Given the description of an element on the screen output the (x, y) to click on. 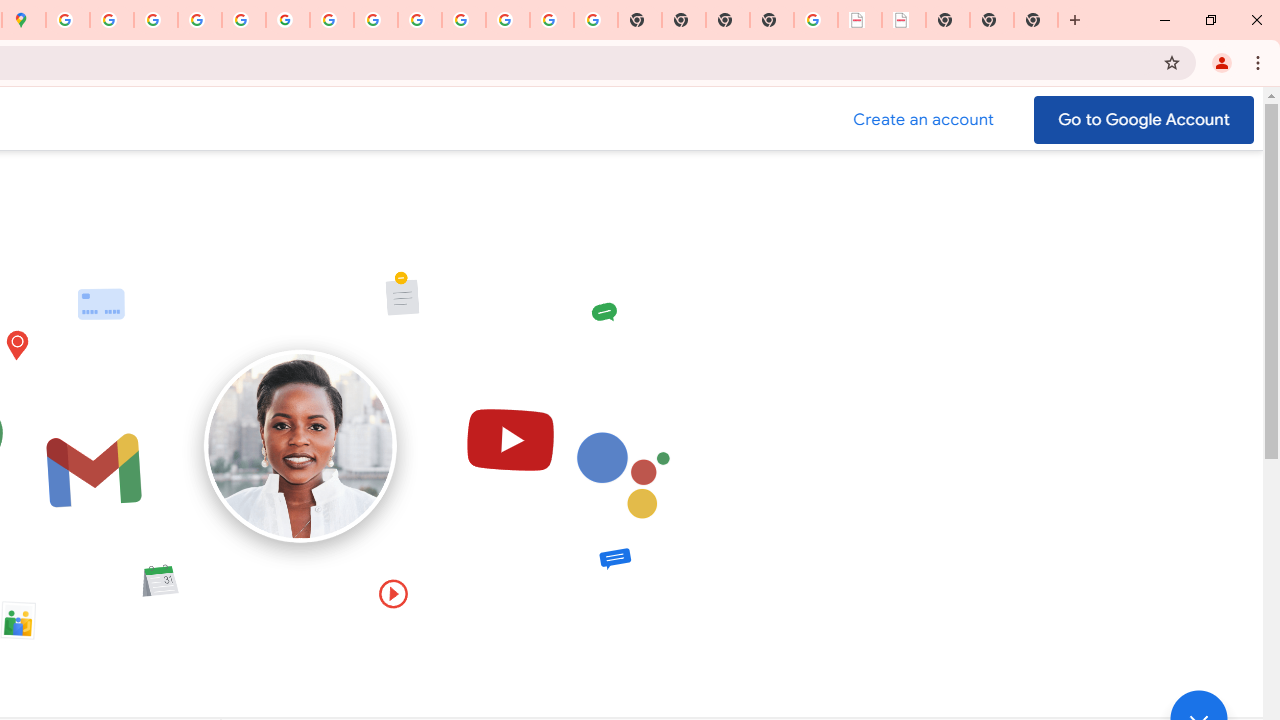
YouTube (331, 20)
Browse Chrome as a guest - Computer - Google Chrome Help (376, 20)
Privacy Help Center - Policies Help (199, 20)
New Tab (1035, 20)
LAAD Defence & Security 2025 | BAE Systems (859, 20)
Google Images (595, 20)
Create a Google Account (923, 119)
Sign in - Google Accounts (67, 20)
